Given the description of an element on the screen output the (x, y) to click on. 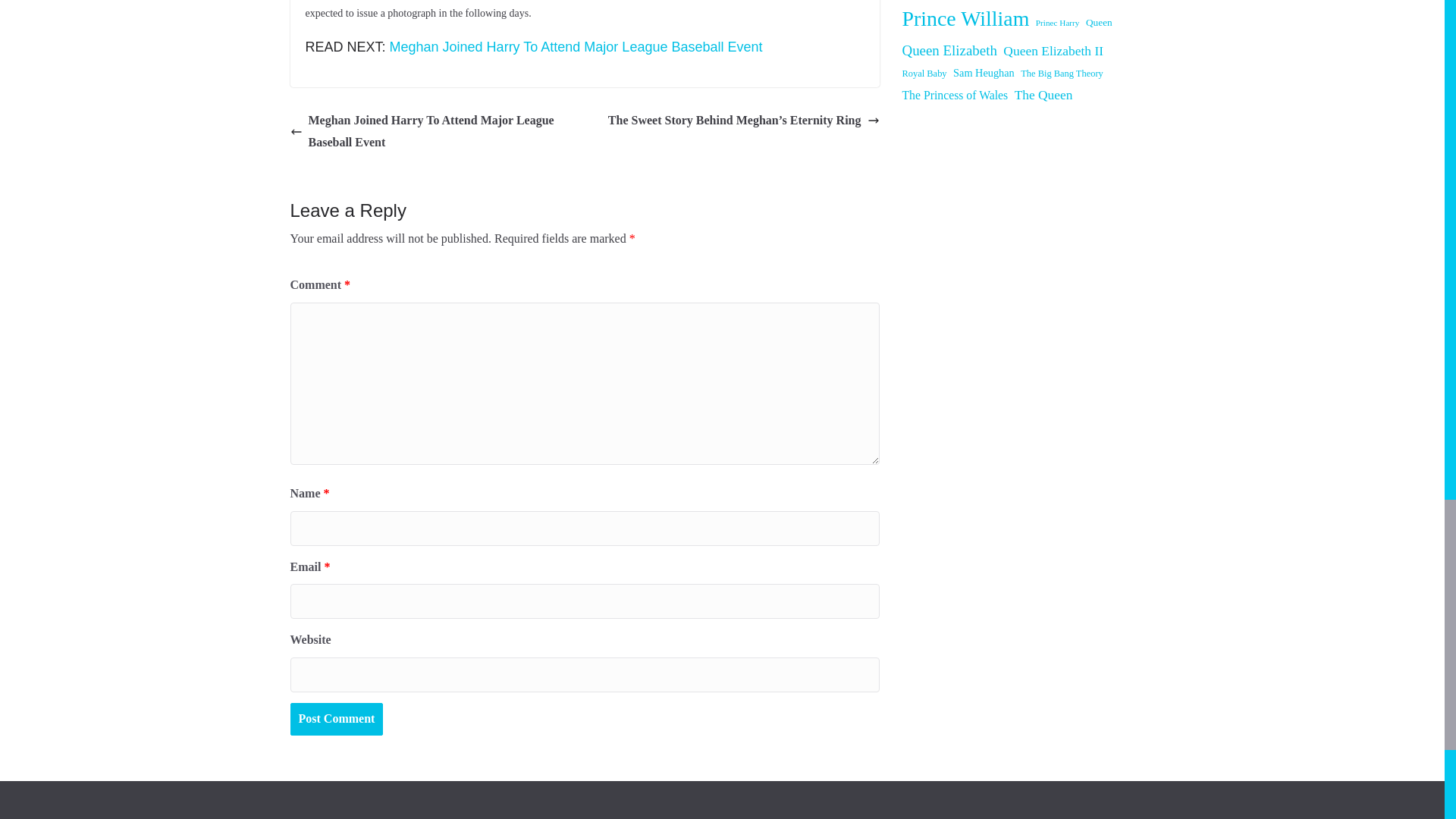
Post Comment (335, 718)
Meghan Joined Harry To Attend Major League Baseball Event (576, 46)
Meghan Joined Harry To Attend Major League Baseball Event (432, 131)
Post Comment (335, 718)
